Given the description of an element on the screen output the (x, y) to click on. 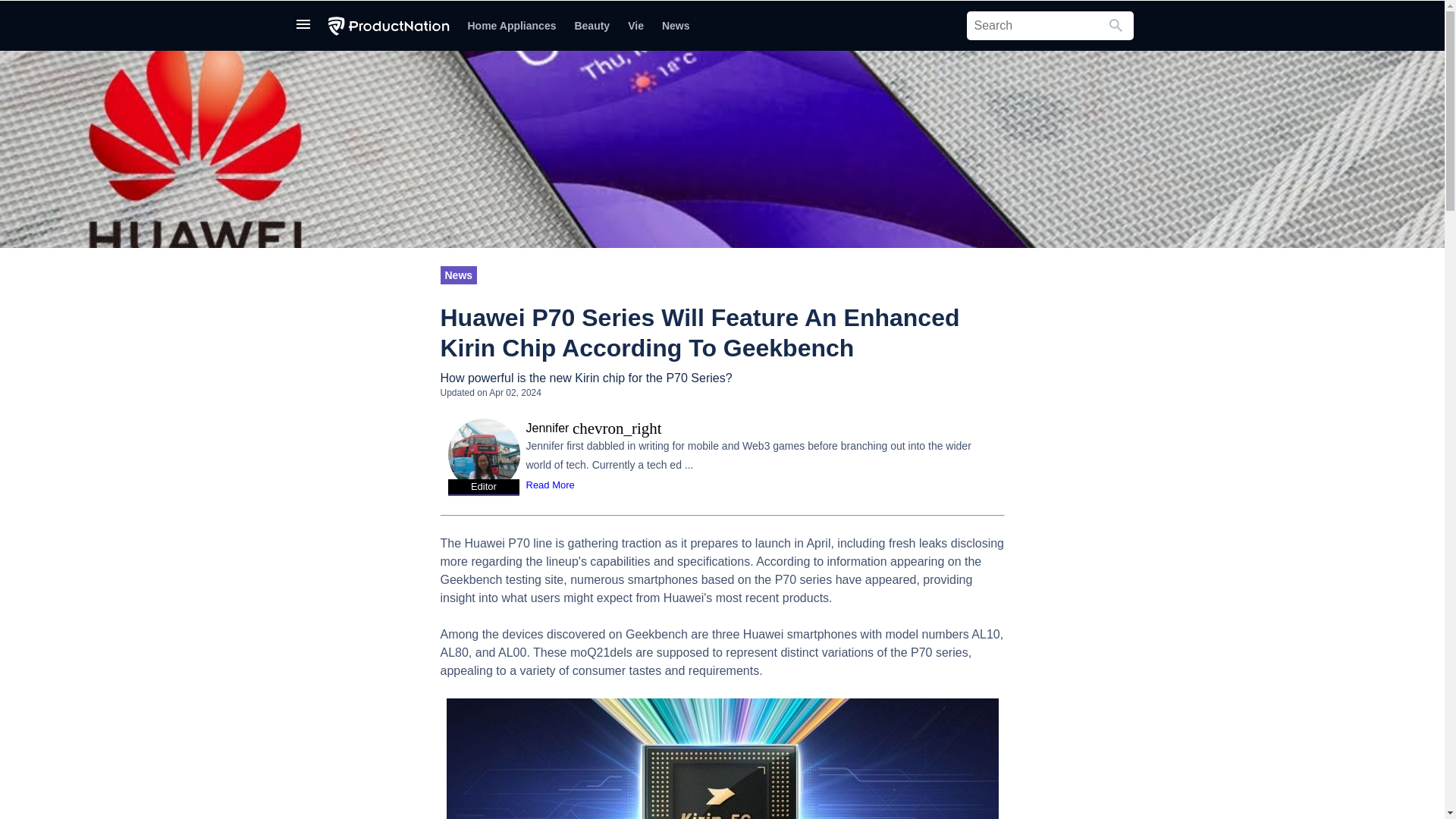
News (458, 275)
Beauty (591, 25)
Read More (552, 485)
News (675, 25)
Home Appliances (511, 25)
